Given the description of an element on the screen output the (x, y) to click on. 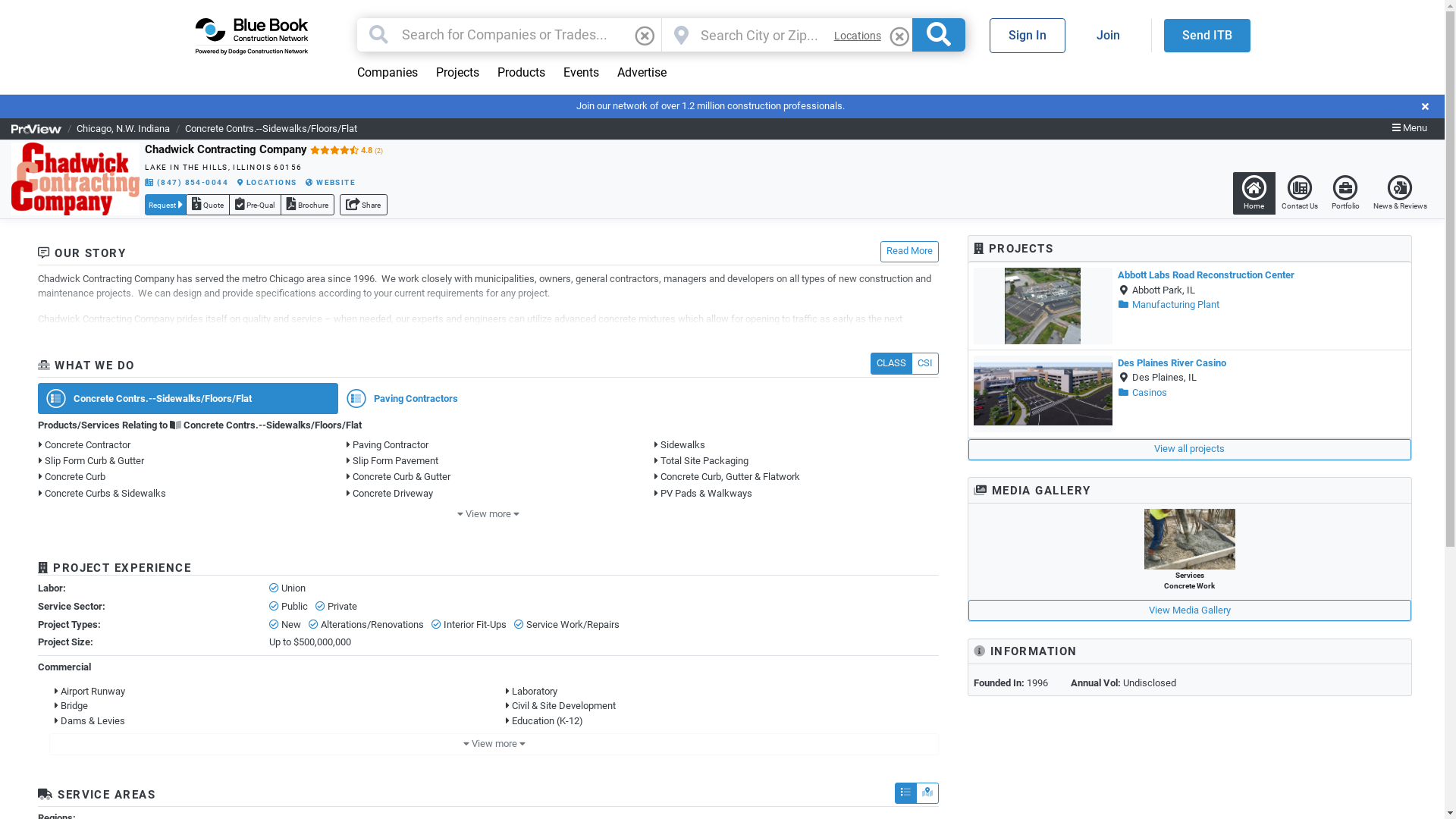
News & Reviews Element type: text (1400, 193)
Manufacturing Plant Element type: text (1168, 304)
Locations Element type: text (857, 35)
Abbott Labs Road Reconstruction Center Element type: text (1205, 274)
Concrete Contrs.--Sidewalks/Floors/Flat Element type: text (187, 397)
Menu Element type: text (1409, 128)
Quote Element type: text (207, 204)
Advertise Element type: text (641, 72)
Casinos Element type: text (1142, 392)
Events Element type: text (580, 72)
LOCATIONS Element type: text (267, 182)
Chadwick Contracting Company ProView Element type: hover (75, 178)
View Project Element type: hover (1042, 305)
Portfolio Element type: text (1345, 193)
Chicago, N.W. Indiana Element type: text (122, 128)
4.8 (2) Element type: text (346, 149)
View Media Gallery Element type: text (1189, 610)
Contact Us Element type: text (1299, 193)
Brochure Element type: text (307, 204)
CLASS Element type: text (891, 362)
(847) 854-0044 Element type: text (186, 182)
Projects Element type: text (456, 72)
Sign In Element type: text (1026, 35)
Send ITB Element type: text (1206, 35)
Services Element type: hover (1189, 538)
Des Plaines River Casino Element type: text (1171, 362)
View Project Element type: hover (1042, 393)
Companies Element type: text (386, 72)
Search City or Zip... Element type: hover (760, 34)
Concrete Contrs.--Sidewalks/Floors/Flat Element type: text (265, 424)
WEBSITE Element type: text (330, 182)
Home Element type: text (1254, 193)
Pre-Qual Element type: text (254, 204)
CSI Element type: text (924, 362)
View more Element type: text (488, 514)
Read More Element type: text (909, 251)
Products Element type: text (521, 72)
Share Element type: text (362, 204)
Learn more about ProView Element type: hover (36, 128)
View more Element type: text (494, 743)
Concrete Contrs.--Sidewalks/Floors/Flat Element type: text (271, 128)
Join Element type: text (1107, 35)
View all projects Element type: text (1189, 449)
Paving Contractors Element type: text (488, 397)
